Given the description of an element on the screen output the (x, y) to click on. 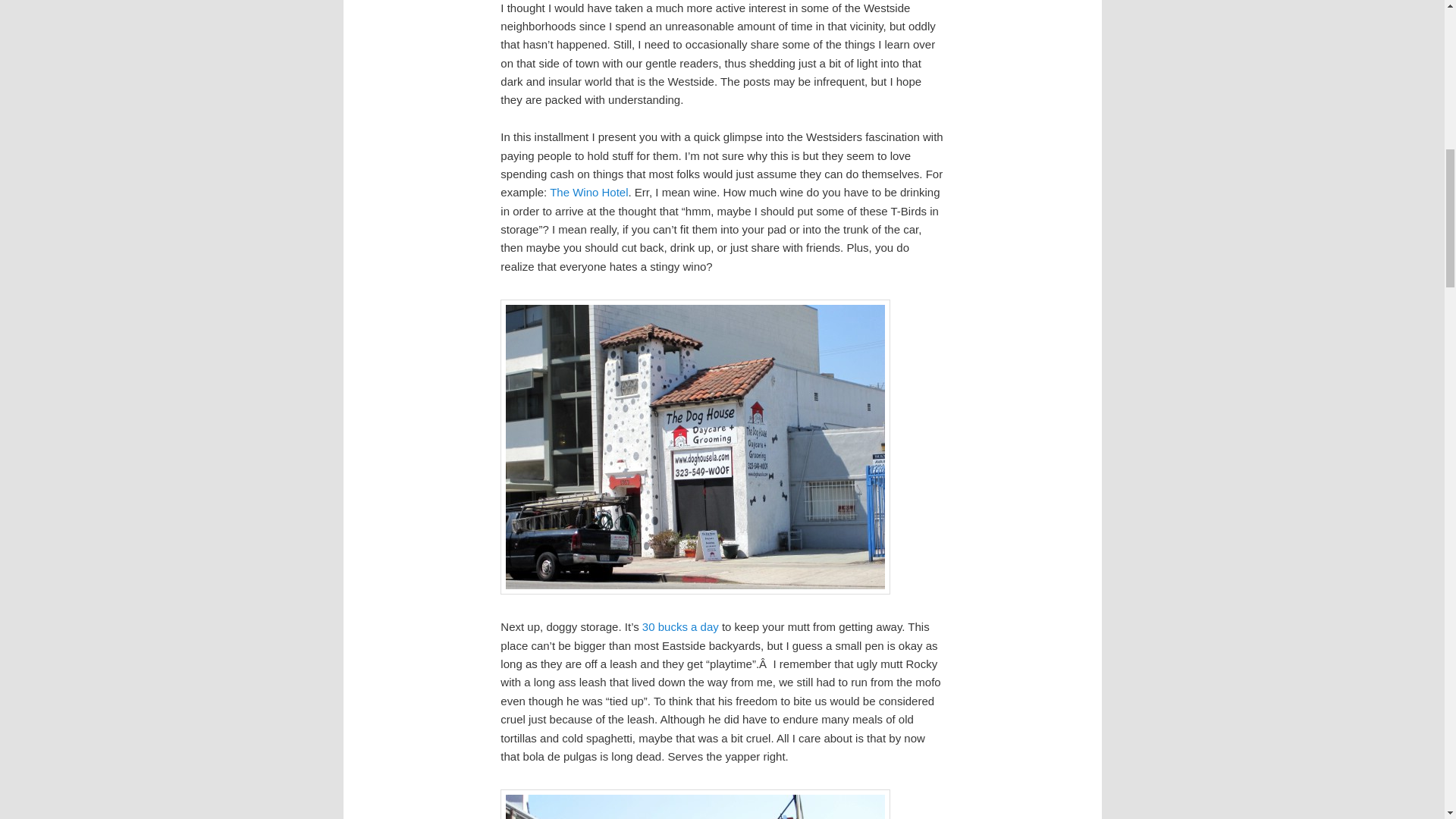
30 bucks a day (680, 626)
The Wino Hotel (588, 192)
storage2 (694, 446)
storage3 (694, 804)
